Given the description of an element on the screen output the (x, y) to click on. 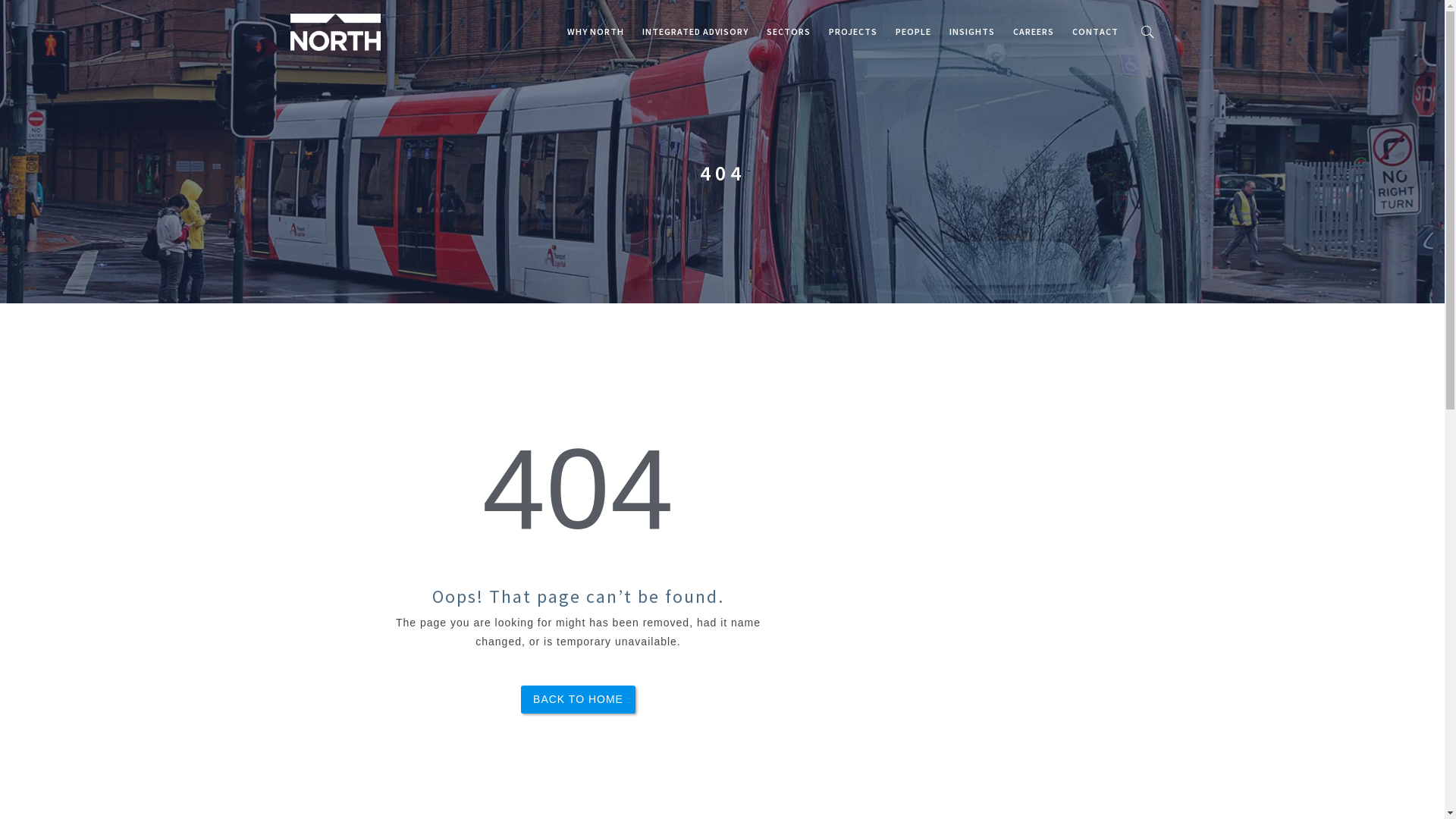
SECTORS Element type: text (787, 31)
INTEGRATED ADVISORY Element type: text (694, 31)
PROJECTS Element type: text (852, 31)
PEOPLE Element type: text (912, 31)
CONTACT Element type: text (1095, 31)
CAREERS Element type: text (1033, 31)
INSIGHTS Element type: text (971, 31)
BACK TO HOME Element type: text (577, 699)
WHY NORTH Element type: text (595, 31)
